Given the description of an element on the screen output the (x, y) to click on. 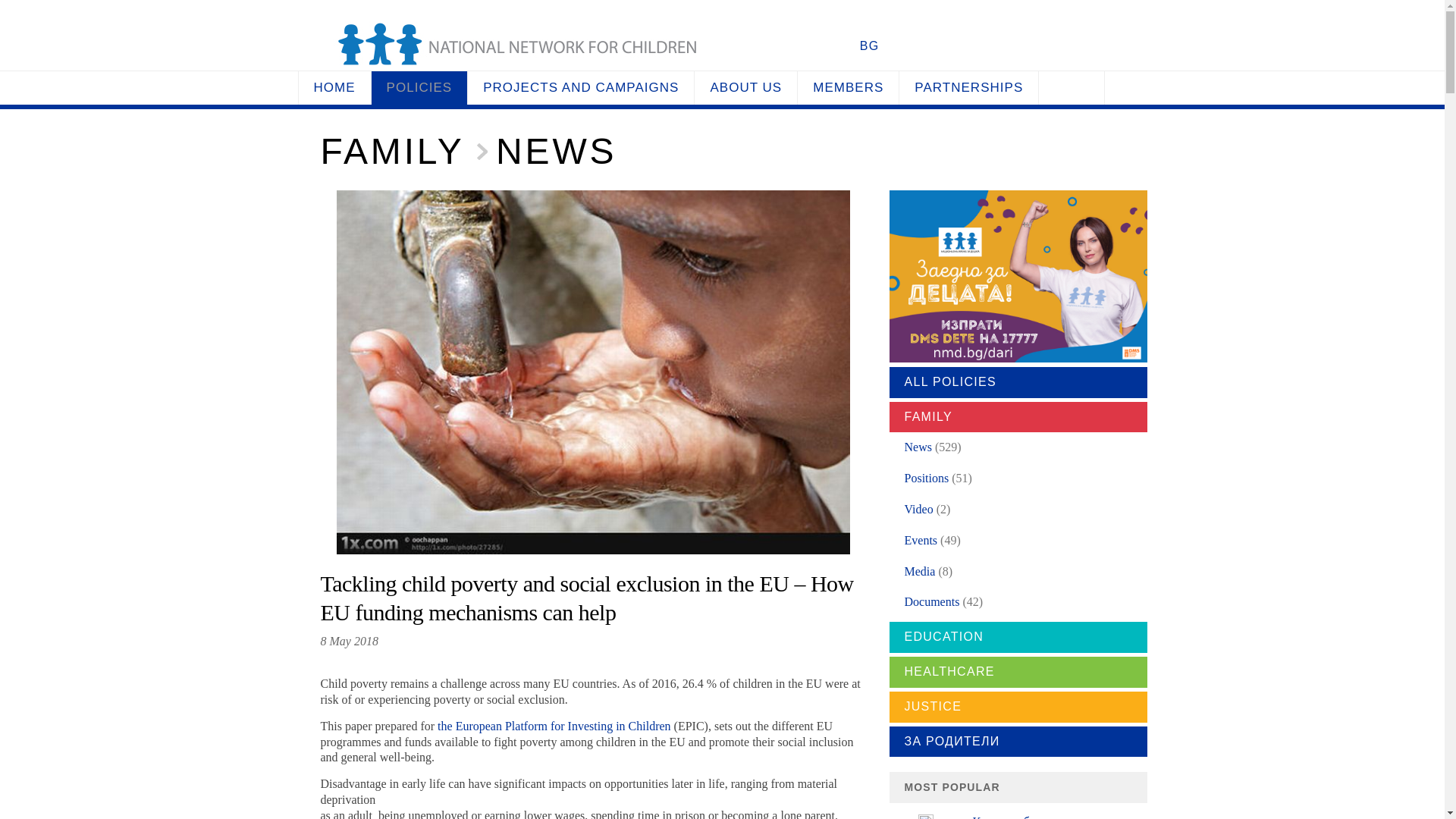
Healthcare (1017, 671)
FAMILY (1017, 417)
INSTAGRAM (787, 45)
Donate (955, 42)
PARTNERSHIPS (968, 87)
Search (1072, 87)
Family (1017, 417)
Search (1072, 87)
PROJECTS AND CAMPAIGNS (580, 87)
News (917, 446)
ALL POLICIES (1017, 382)
RSS (838, 45)
JUSTICE (1017, 706)
MEMBERS (847, 87)
Education (1017, 636)
